Given the description of an element on the screen output the (x, y) to click on. 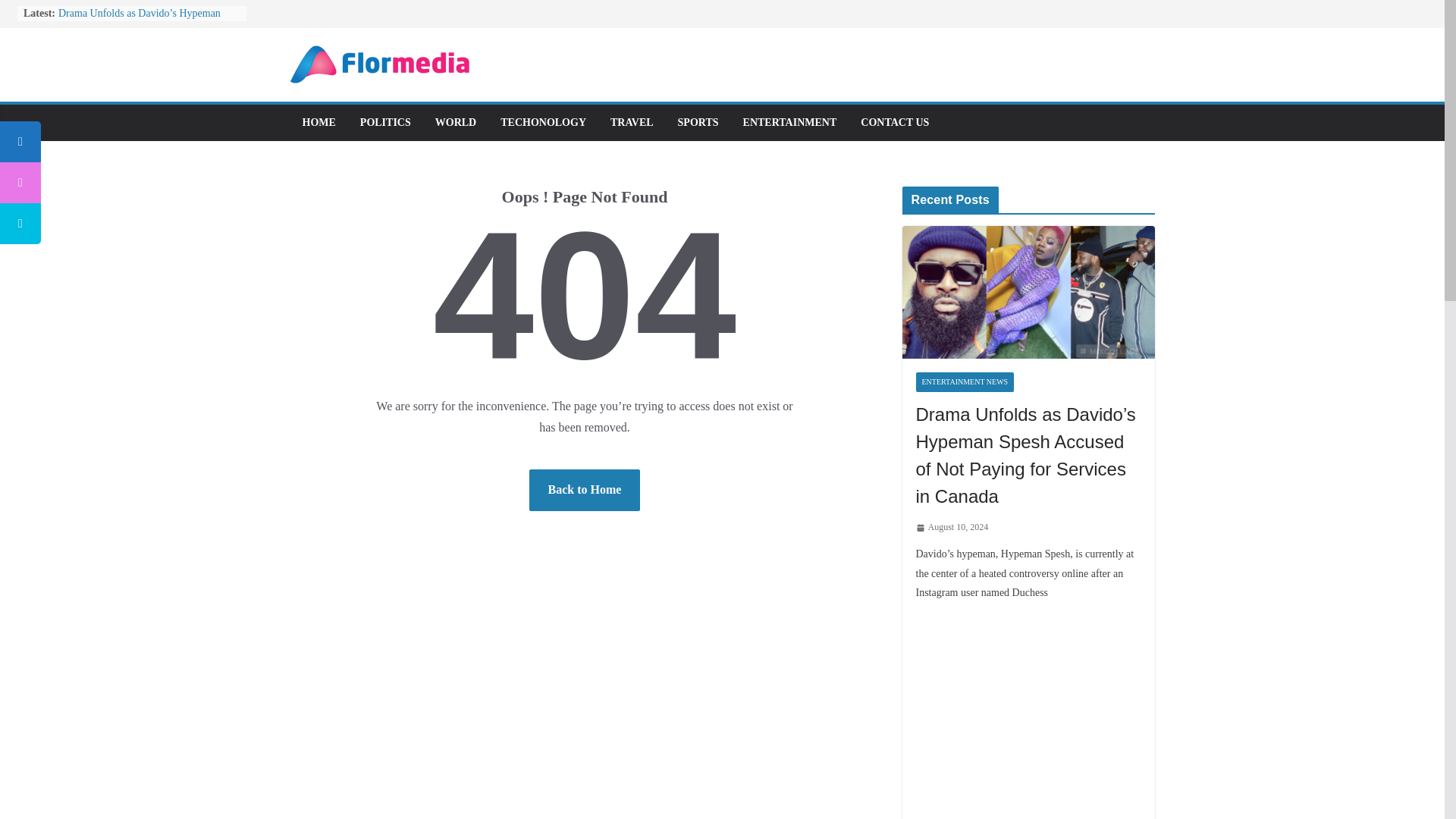
CONTACT US (894, 122)
Advertisement (1028, 714)
SPORTS (698, 122)
ENTERTAINMENT (789, 122)
August 10, 2024 (951, 527)
6:27 pm (951, 527)
TRAVEL (631, 122)
HOME (317, 122)
TECHONOLOGY (543, 122)
POLITICS (384, 122)
